Given the description of an element on the screen output the (x, y) to click on. 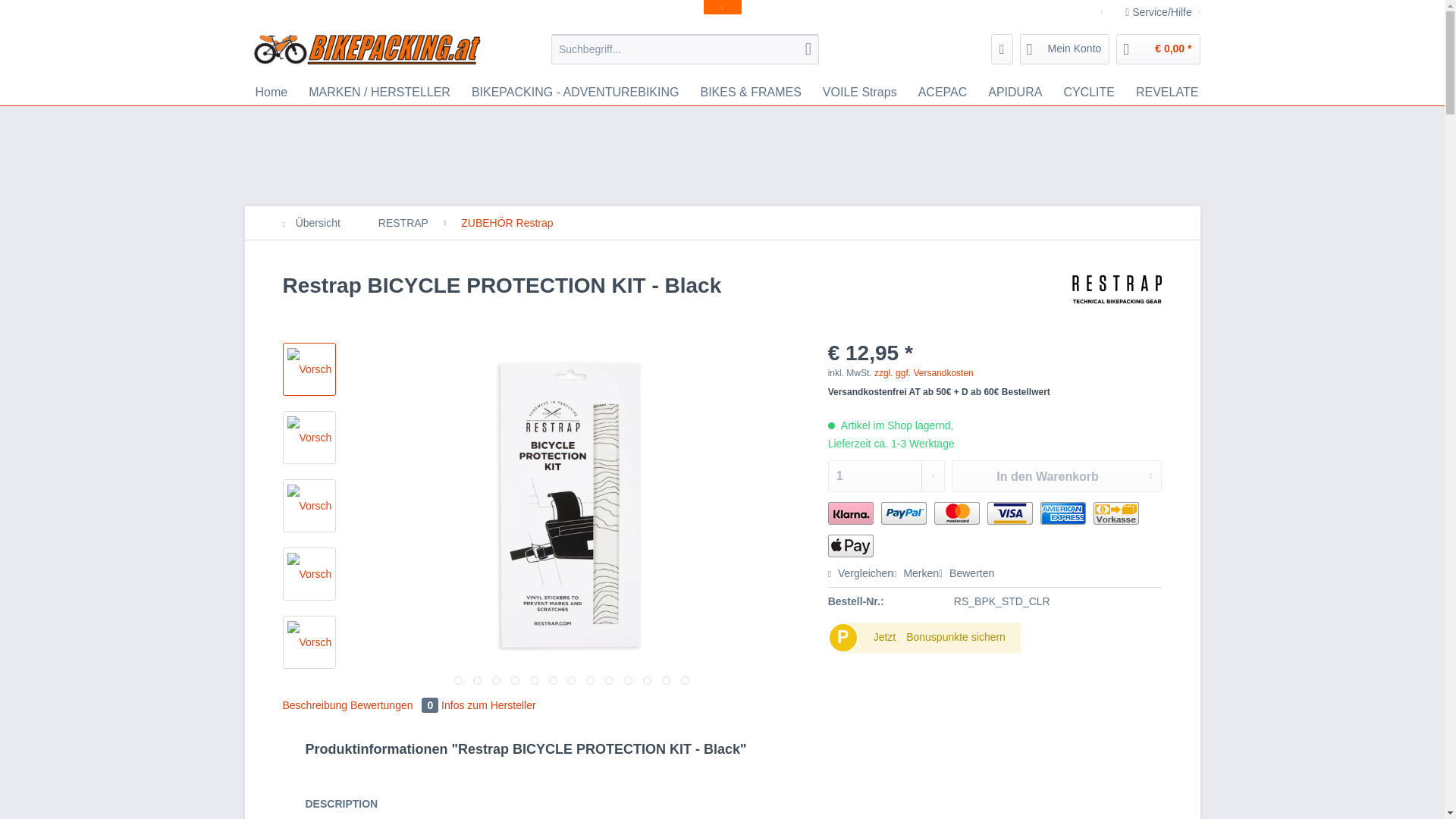
Warenkorb (1157, 49)
APIDURA (1014, 92)
Mein Konto (1064, 49)
REVELATE DESIGNS (1195, 92)
Home (271, 92)
Home (271, 92)
ACEPAC (942, 92)
CYCLITE (1088, 92)
Mein Konto (1064, 49)
BIKEPACKING - ADVENTUREBIKING (575, 92)
